Given the description of an element on the screen output the (x, y) to click on. 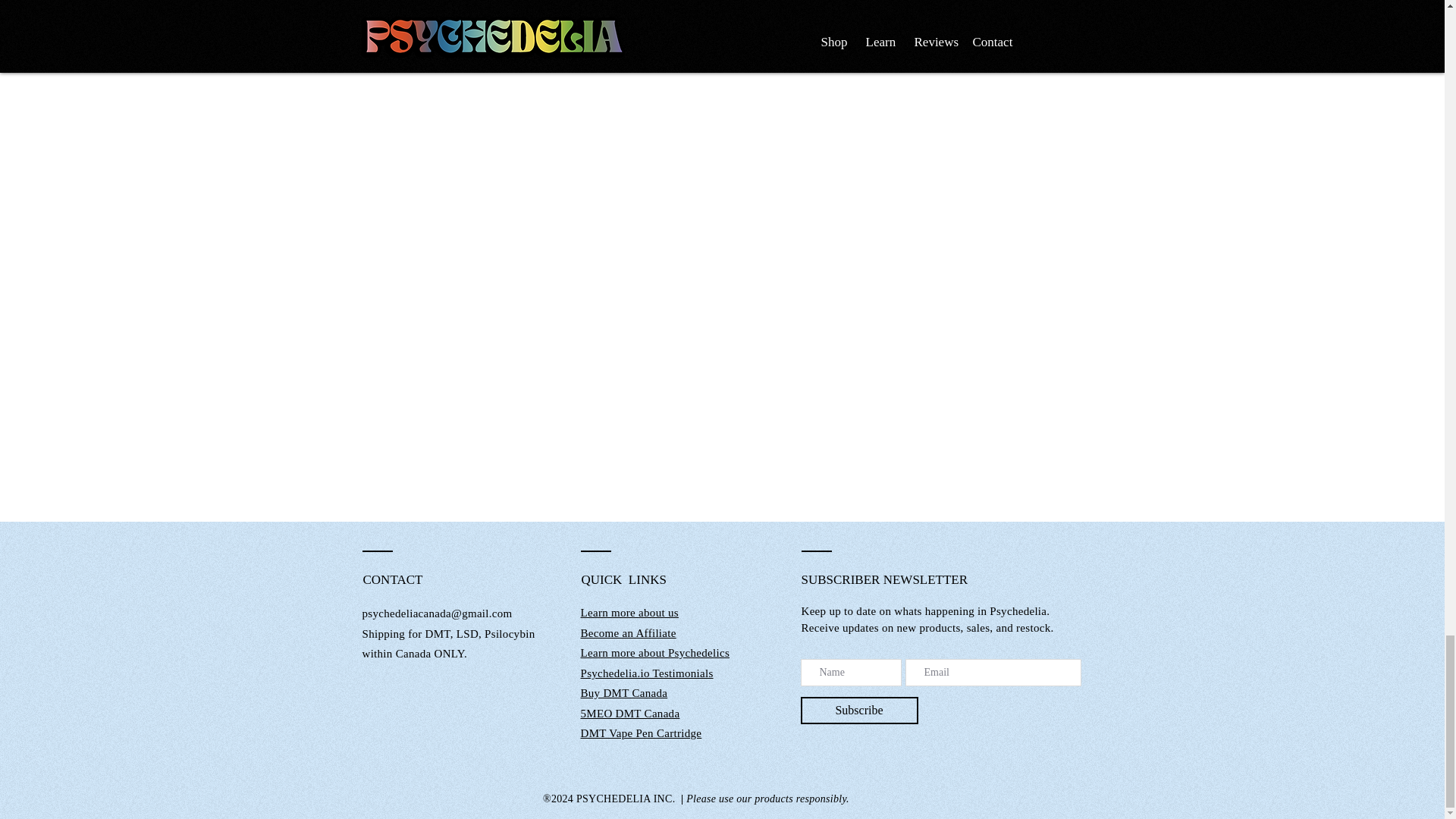
DMT Vape Pen Cartridge (640, 733)
Subscribe (859, 709)
Psychedelia.io Testimonials (646, 673)
Buy DMT Canada (624, 693)
Learn more about us (629, 612)
Learn more about Psychedelics (655, 653)
Become an Affiliate (628, 632)
5MEO DMT Canada (629, 713)
